Given the description of an element on the screen output the (x, y) to click on. 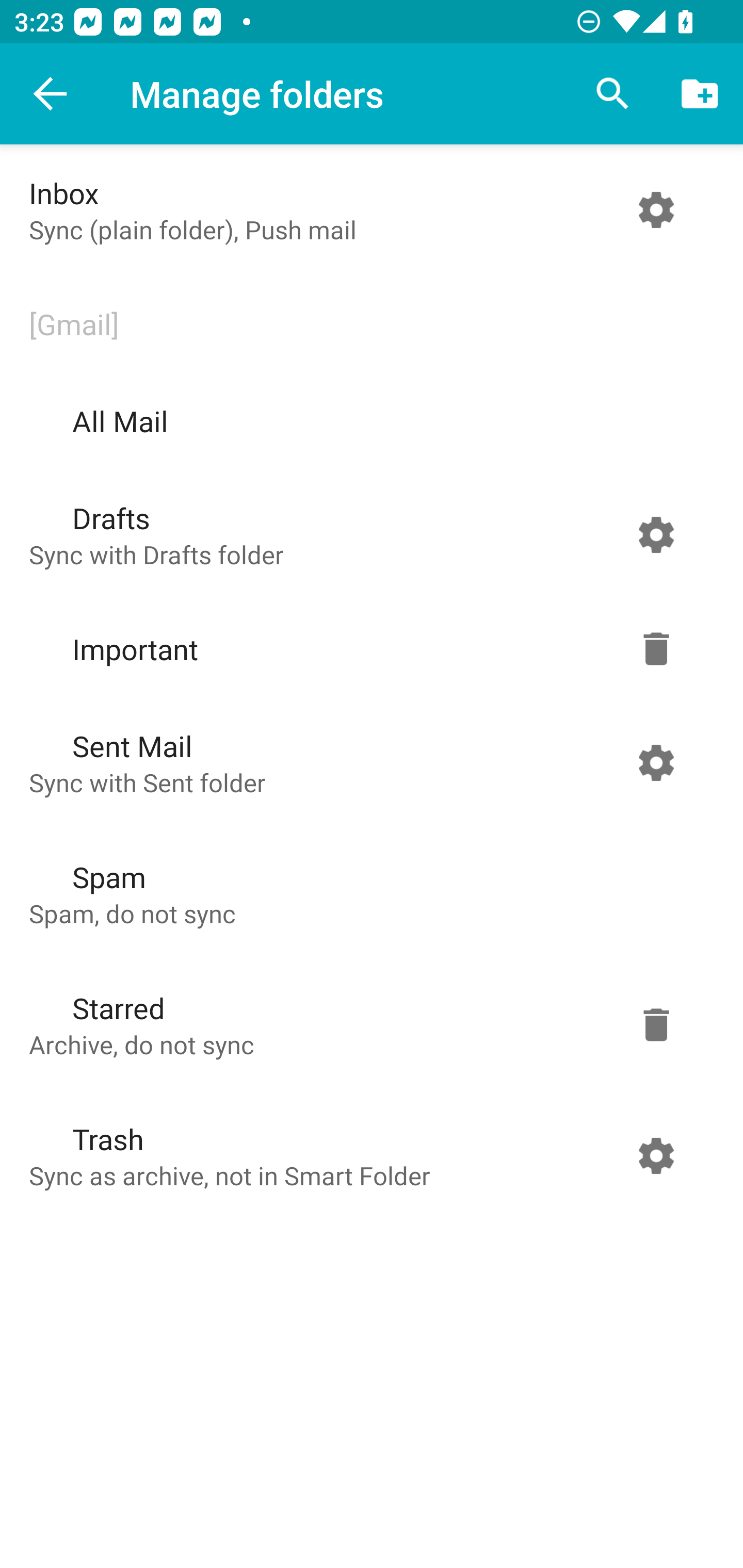
Navigate up (50, 93)
Search folders (612, 93)
Create folder (699, 93)
Folder settings (655, 209)
All Mail (367, 420)
Drafts Sync with Drafts folder Folder settings (367, 534)
Folder settings (655, 534)
Important Folder settings (367, 648)
Folder settings (655, 648)
Sent Mail Sync with Sent folder Folder settings (367, 762)
Folder settings (655, 762)
Spam Spam, do not sync (367, 893)
Starred Archive, do not sync Folder settings (367, 1024)
Folder settings (655, 1024)
Folder settings (655, 1155)
